Given the description of an element on the screen output the (x, y) to click on. 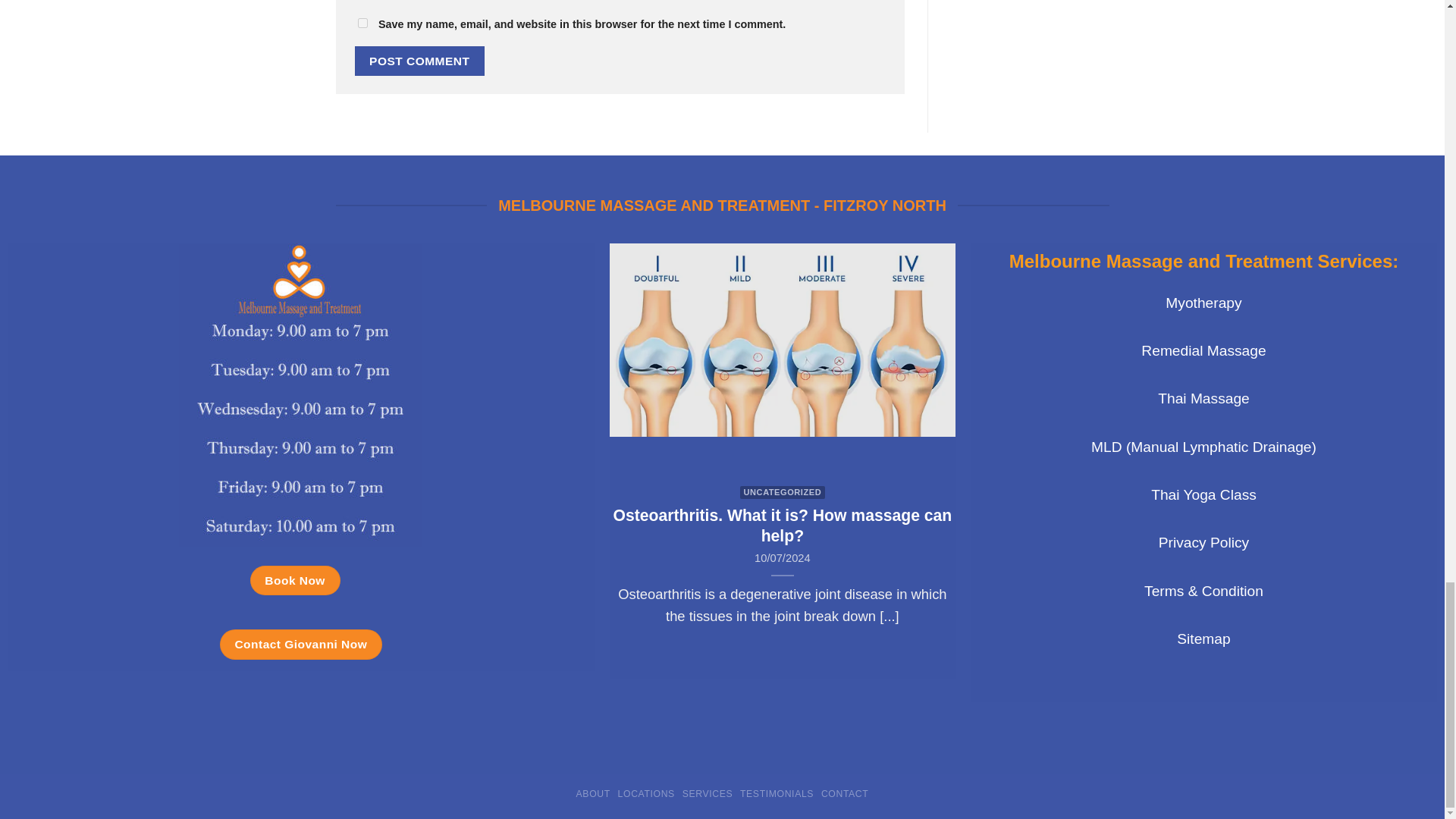
Post Comment (419, 60)
yes (363, 22)
